Given the description of an element on the screen output the (x, y) to click on. 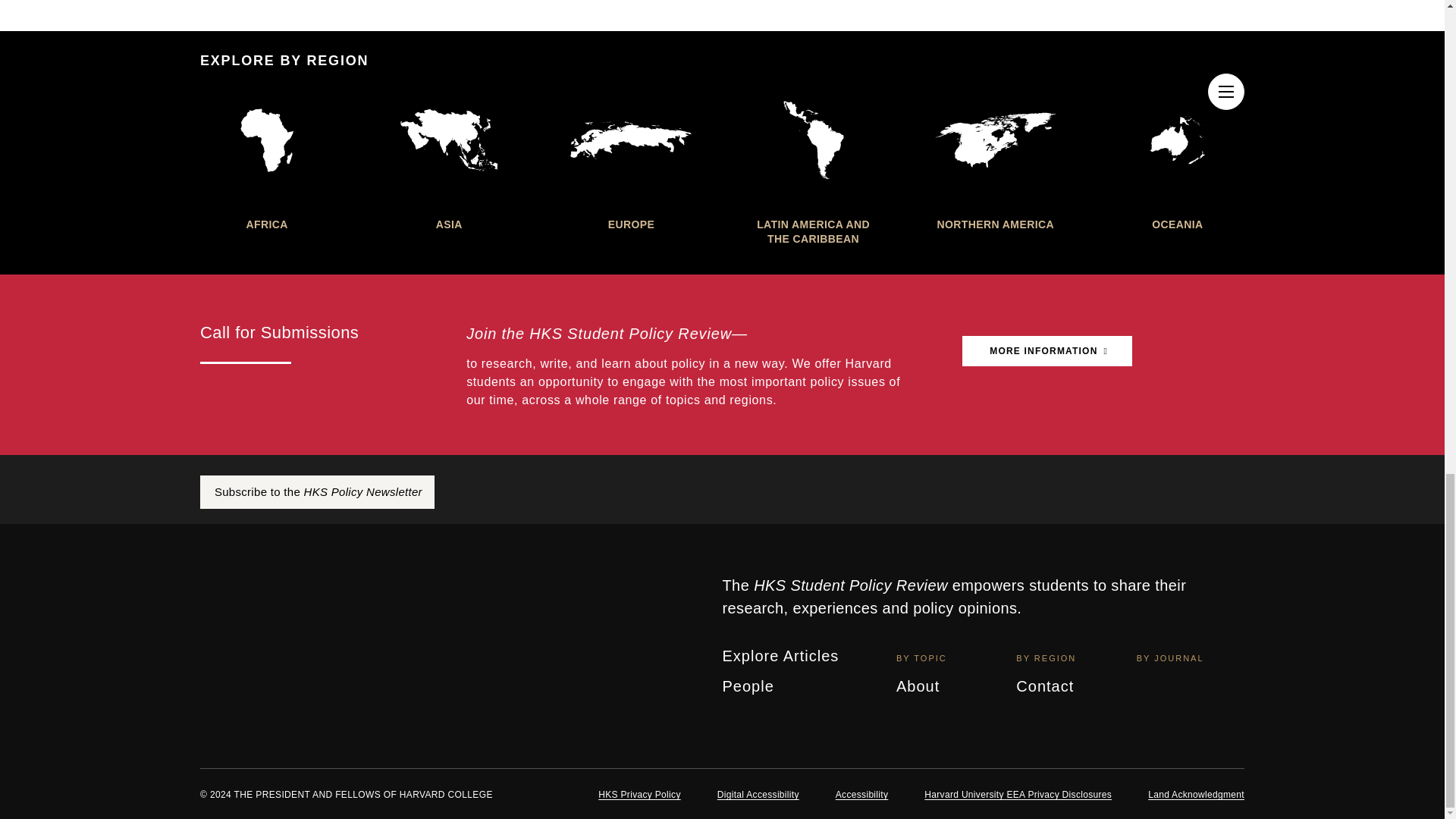
MORE INFORMATION (1047, 350)
See articles from Africa (266, 159)
ASIA (448, 159)
OCEANIA (1177, 159)
NORTHERN AMERICA (995, 159)
EUROPE (630, 159)
AFRICA (266, 159)
